Given the description of an element on the screen output the (x, y) to click on. 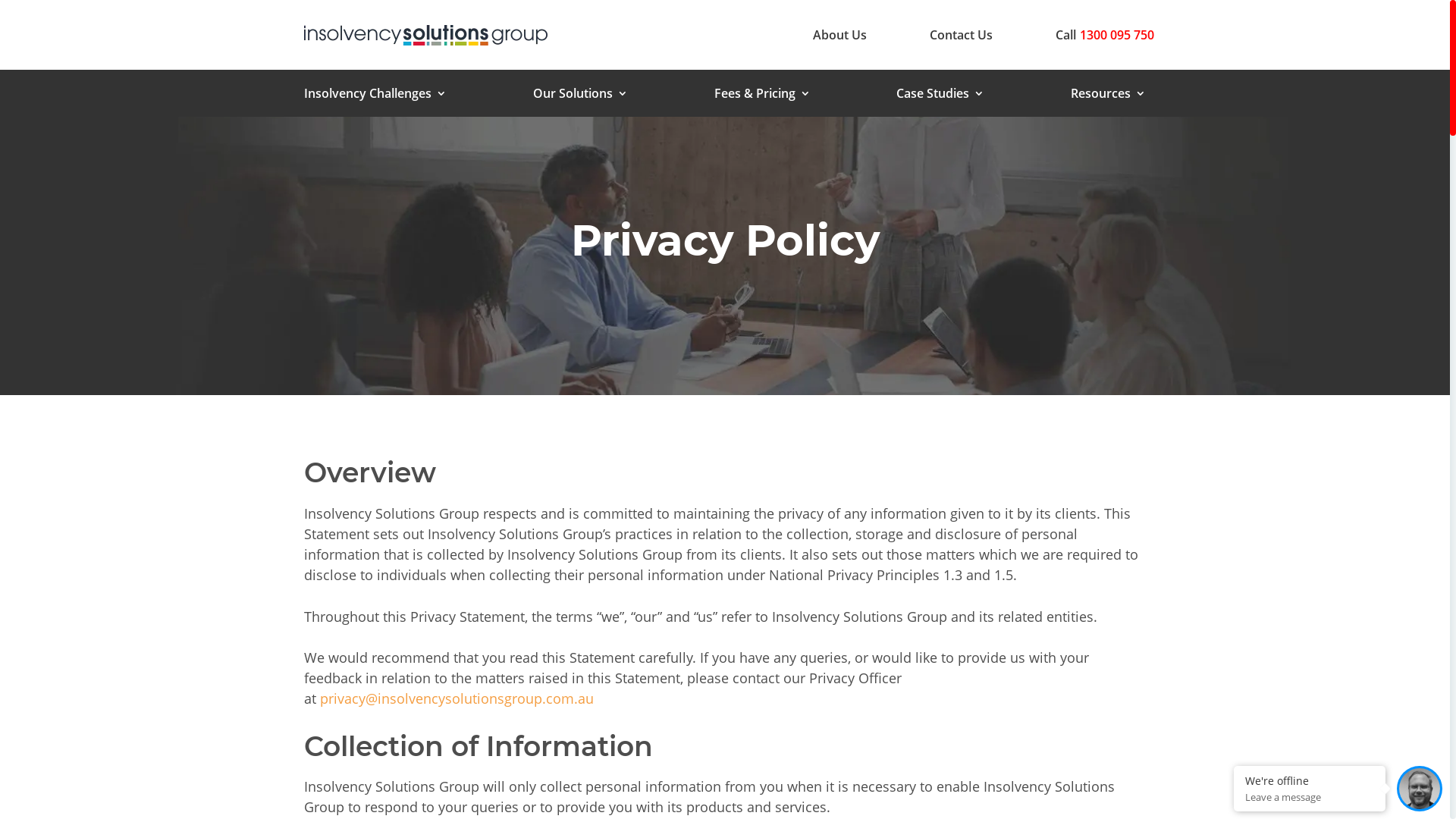
Call
1300 095 750 Element type: text (1104, 34)
Resources Element type: text (1107, 95)
Contact Us Element type: text (960, 34)
About Us Element type: text (839, 34)
Our Solutions Element type: text (580, 95)
Insolvency Challenges Element type: text (375, 95)
privacy@insolvencysolutionsgroup.com.au Element type: text (456, 698)
Case Studies Element type: text (940, 95)
Fees & Pricing Element type: text (762, 95)
